Given the description of an element on the screen output the (x, y) to click on. 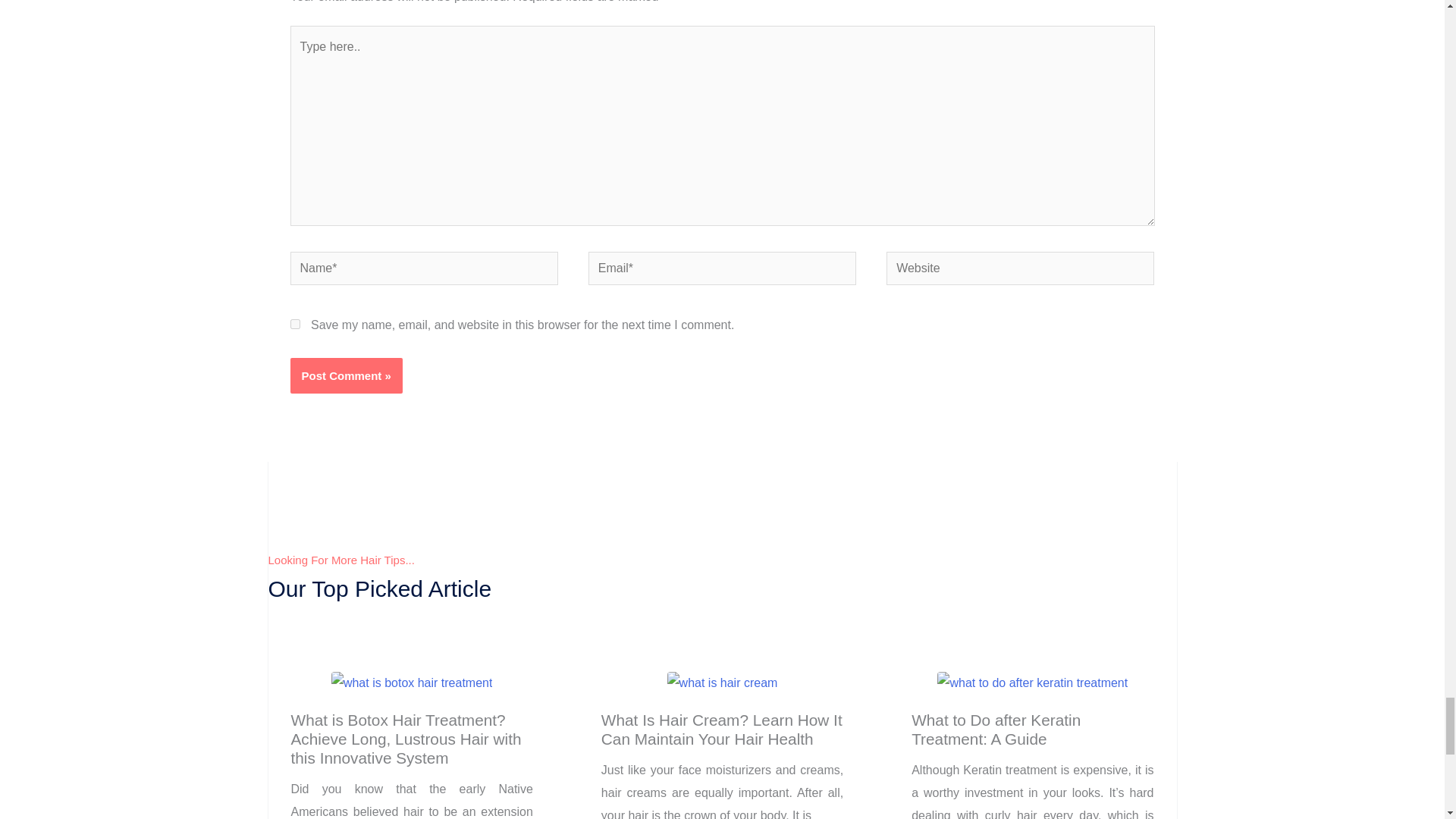
yes (294, 324)
What to Do after Keratin Treatment A Guide (1031, 682)
